Given the description of an element on the screen output the (x, y) to click on. 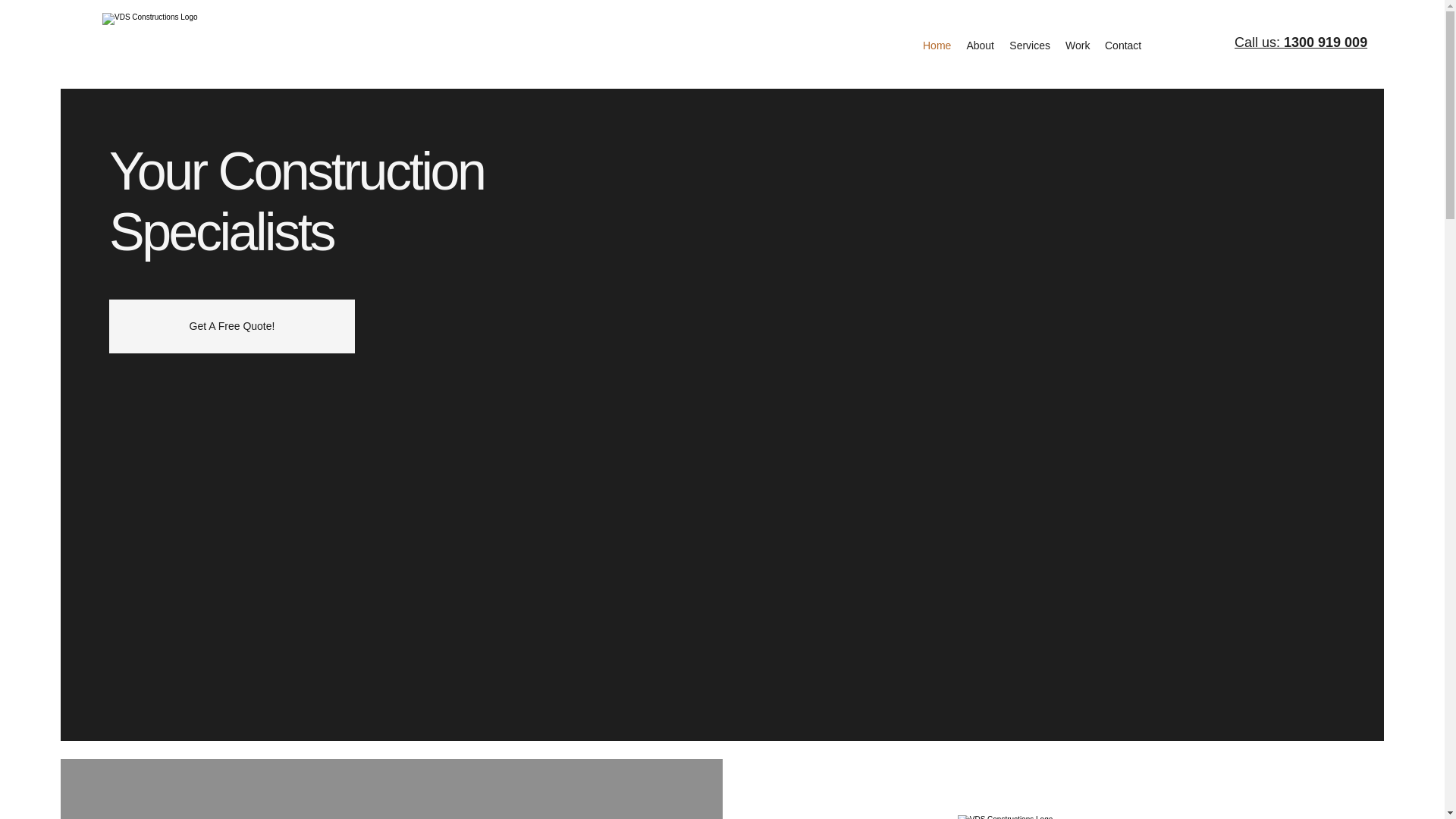
About (979, 45)
Contact (1122, 45)
Work (1077, 45)
Call us: 1300 919 009 (1300, 42)
Home (936, 45)
Get A Free Quote! (232, 325)
Services (1029, 45)
